Given the description of an element on the screen output the (x, y) to click on. 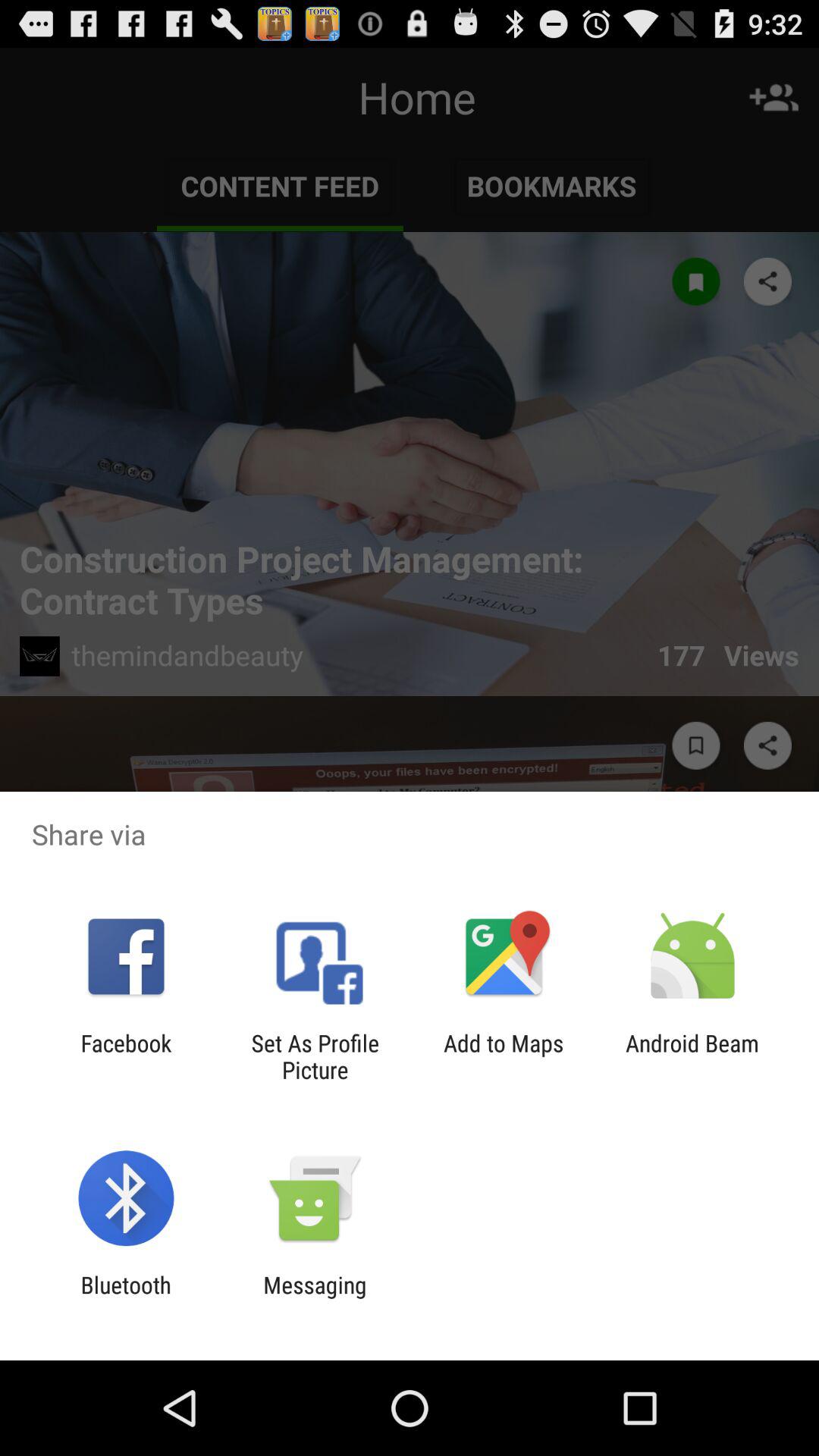
launch the app to the left of messaging item (125, 1298)
